Given the description of an element on the screen output the (x, y) to click on. 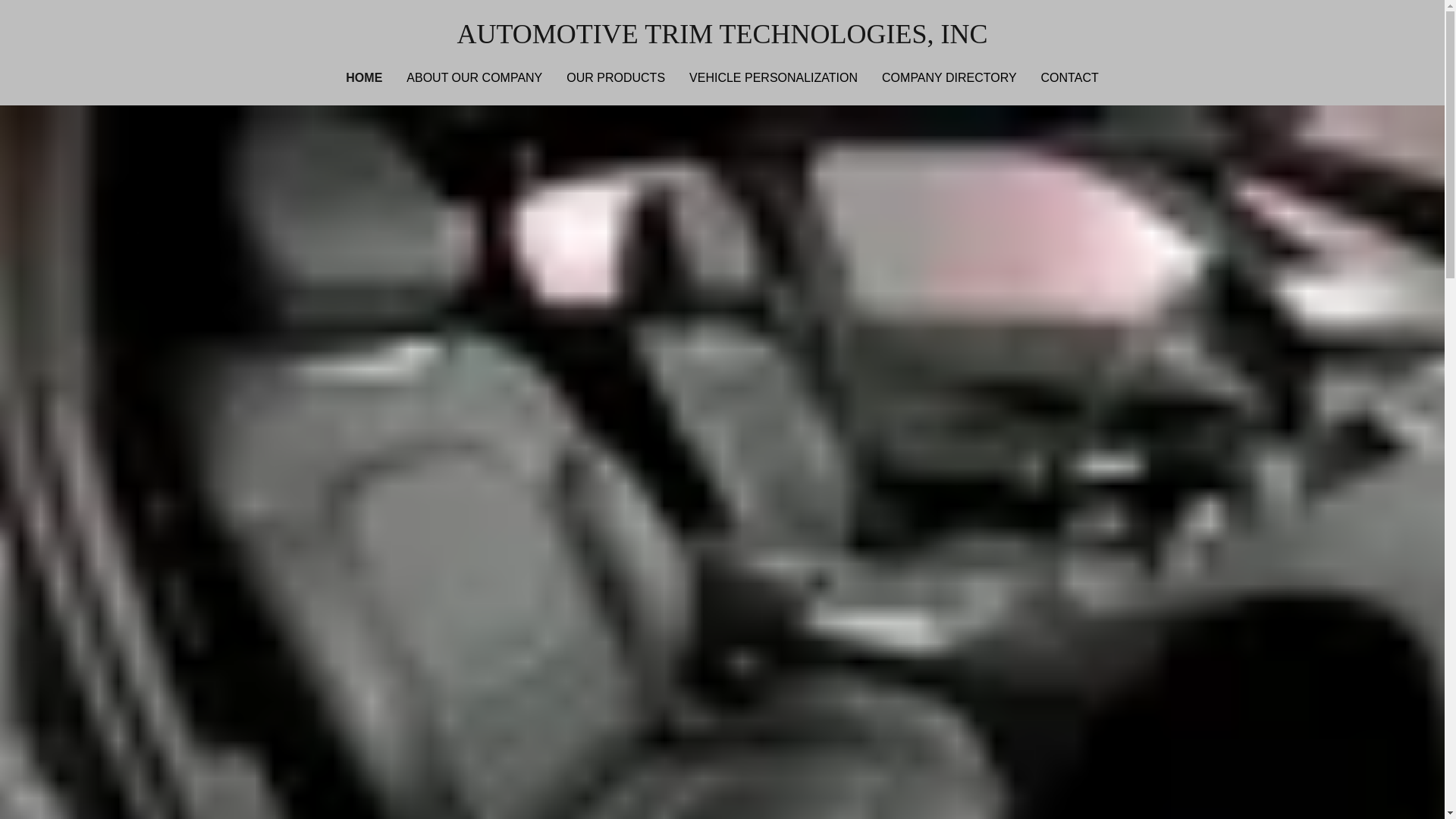
CONTACT (1069, 77)
VEHICLE PERSONALIZATION (772, 77)
AUTOMOTIVE TRIM TECHNOLOGIES, INC (722, 34)
AUTOMOTIVE TRIM TECHNOLOGIES, INC (722, 34)
HOME (363, 77)
ABOUT OUR COMPANY (474, 77)
COMPANY DIRECTORY (949, 77)
OUR PRODUCTS (615, 77)
